Given the description of an element on the screen output the (x, y) to click on. 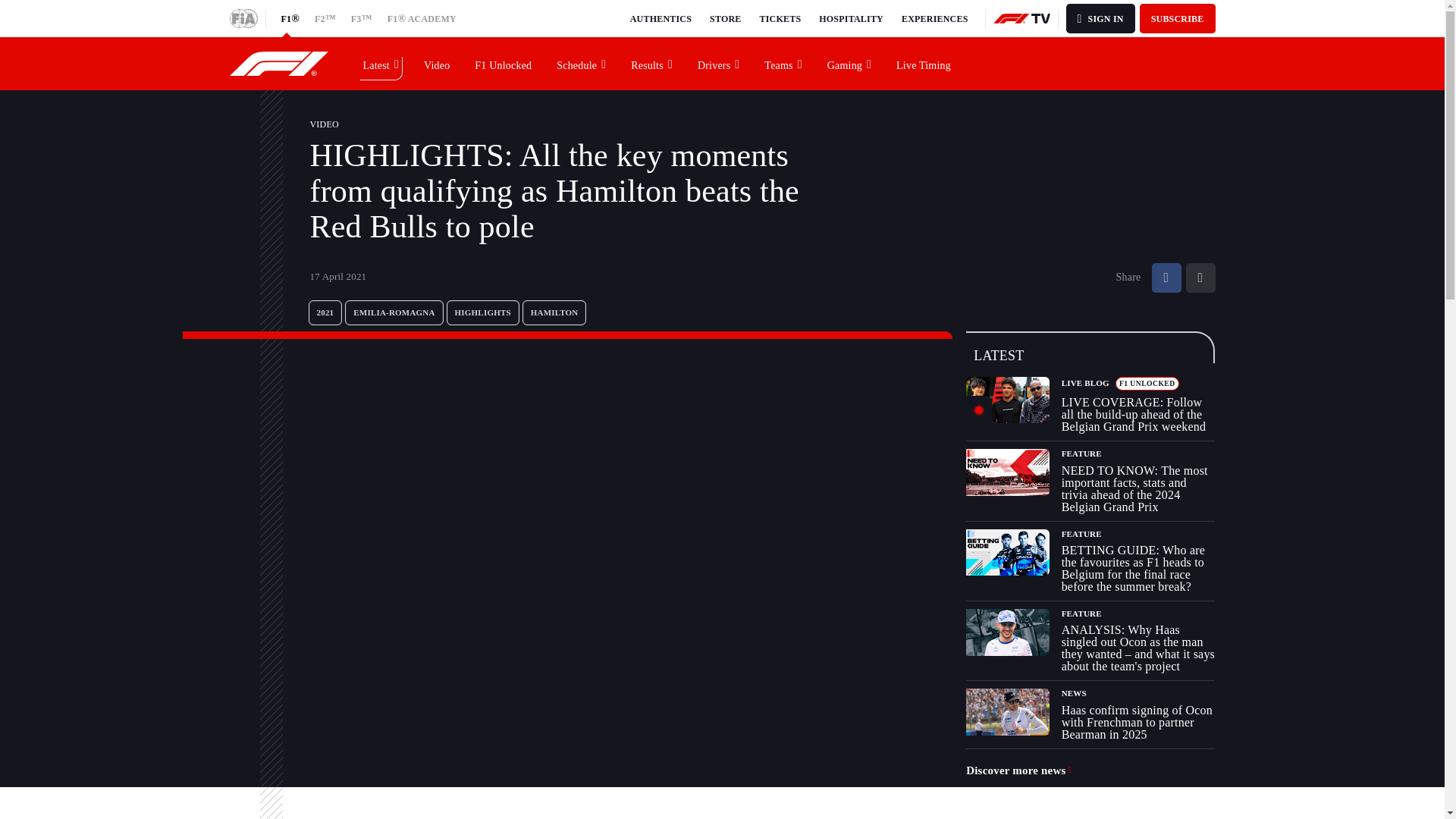
EXPERIENCES (934, 18)
TICKETS (781, 18)
Latest (380, 63)
2021 (324, 312)
EMILIA-ROMAGNA (393, 312)
Teams (782, 63)
Discover more news (1018, 770)
HAMILTON (554, 312)
STORE (725, 18)
AUTHENTICS (660, 18)
Schedule (581, 63)
Video (437, 63)
F1 Unlocked (503, 63)
Drivers (718, 63)
